Given the description of an element on the screen output the (x, y) to click on. 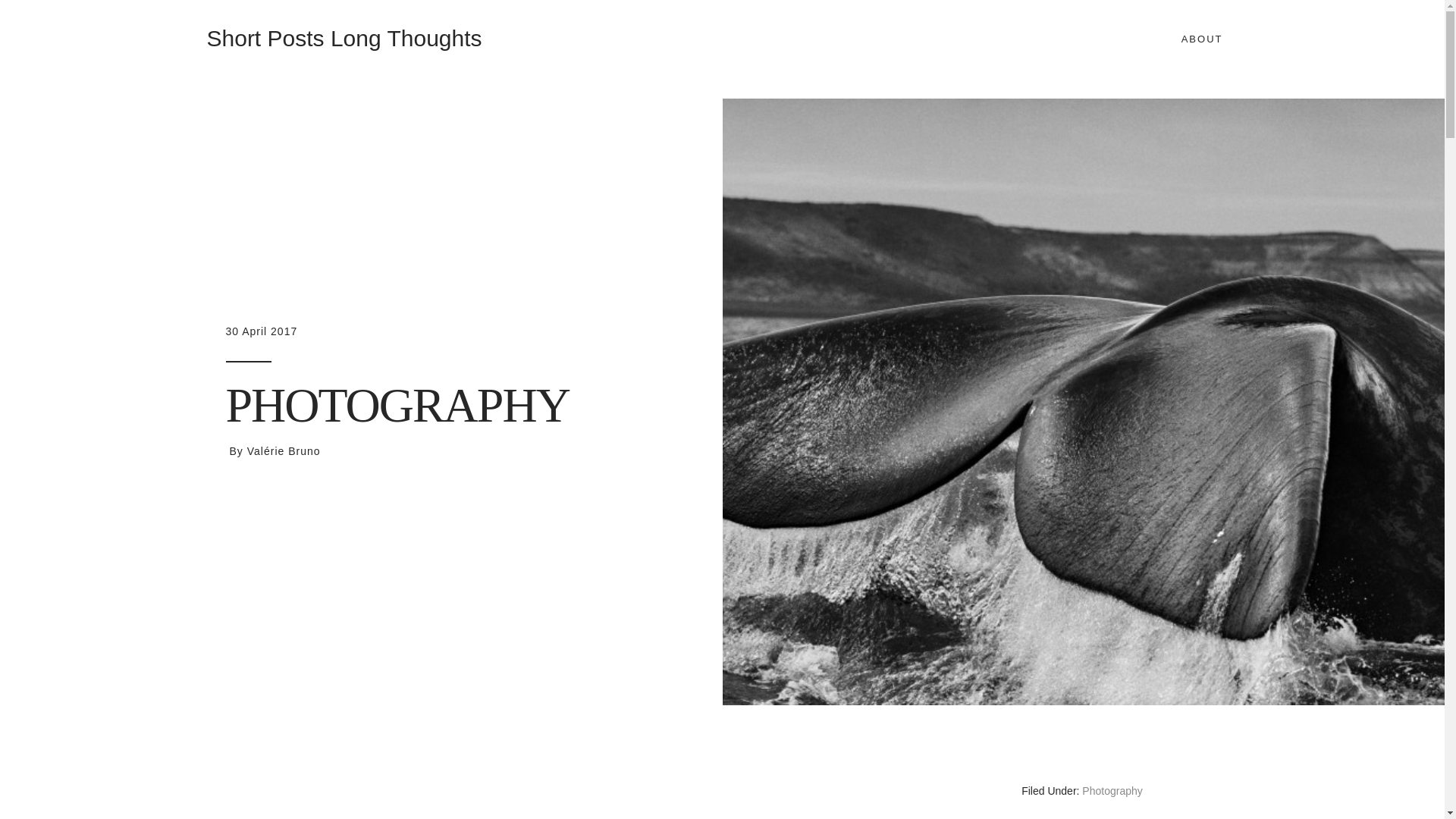
ABOUT (1202, 39)
Photography (1111, 790)
Short Posts Long Thoughts (343, 37)
